Given the description of an element on the screen output the (x, y) to click on. 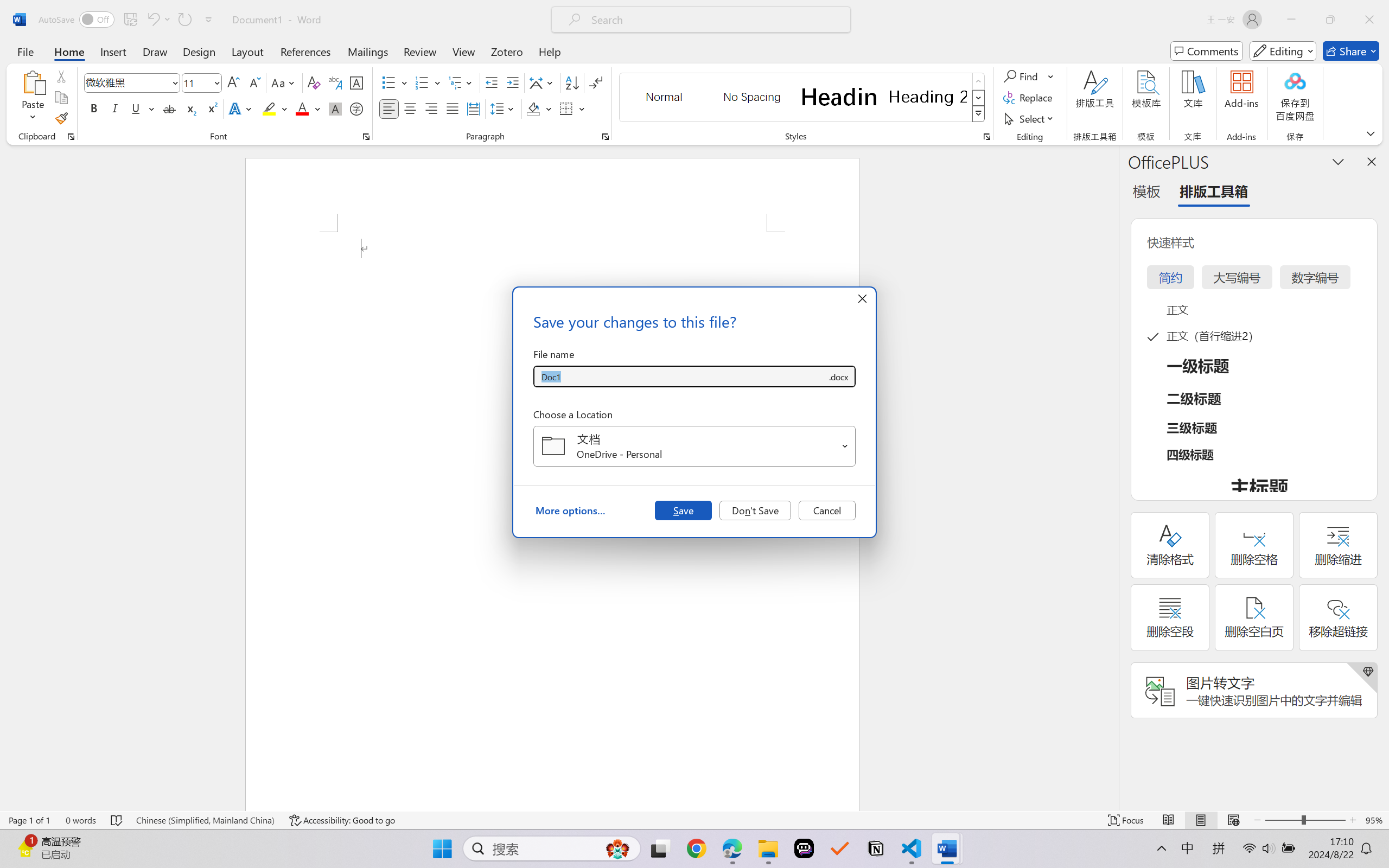
Class: MsoCommandBar (694, 819)
